Given the description of an element on the screen output the (x, y) to click on. 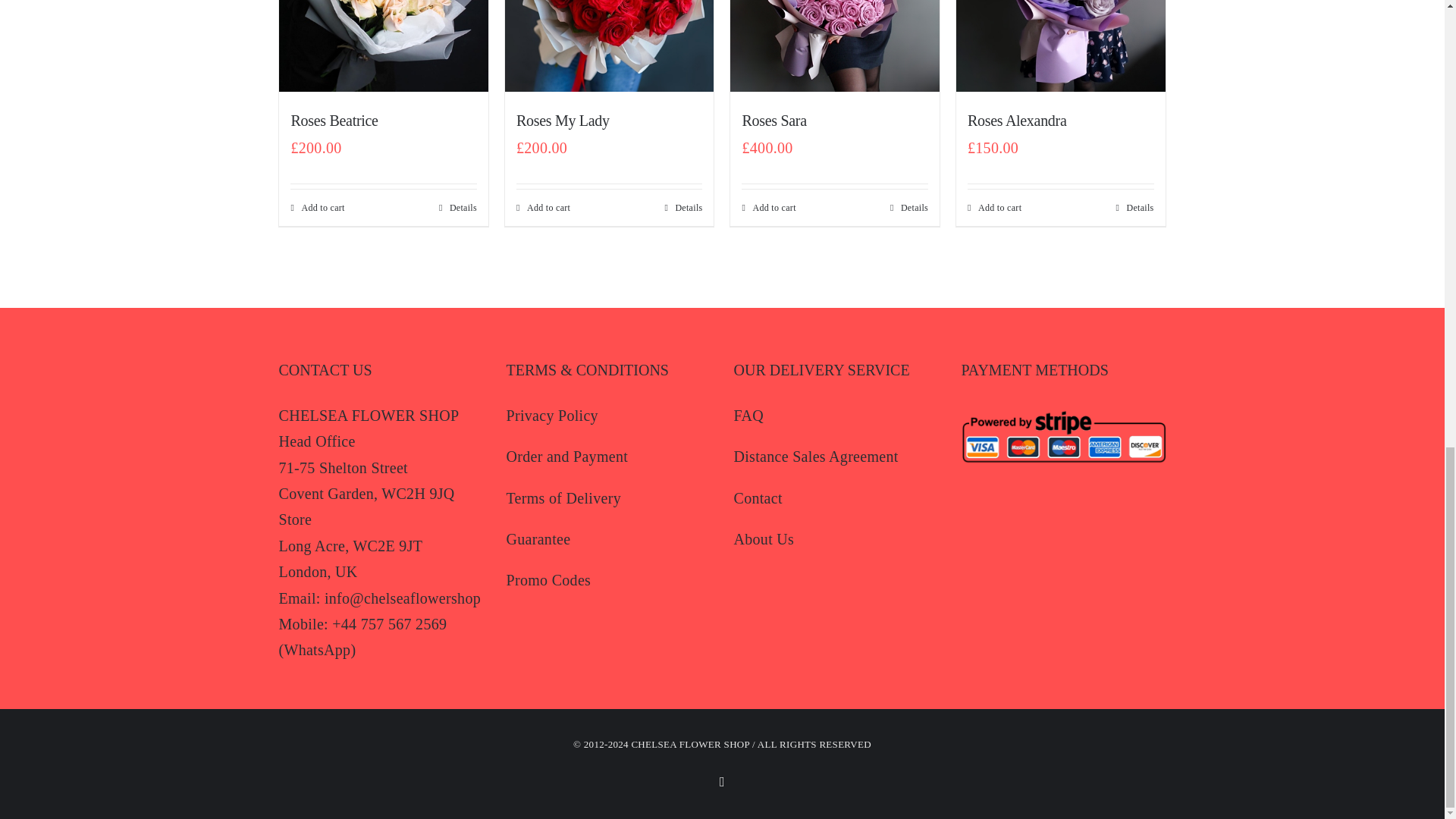
Add to cart (767, 207)
Add to cart (316, 207)
Details (458, 207)
Roses Beatrice (333, 120)
Add to cart (543, 207)
Roses Sara (773, 120)
Details (682, 207)
Roses My Lady (563, 120)
